Given the description of an element on the screen output the (x, y) to click on. 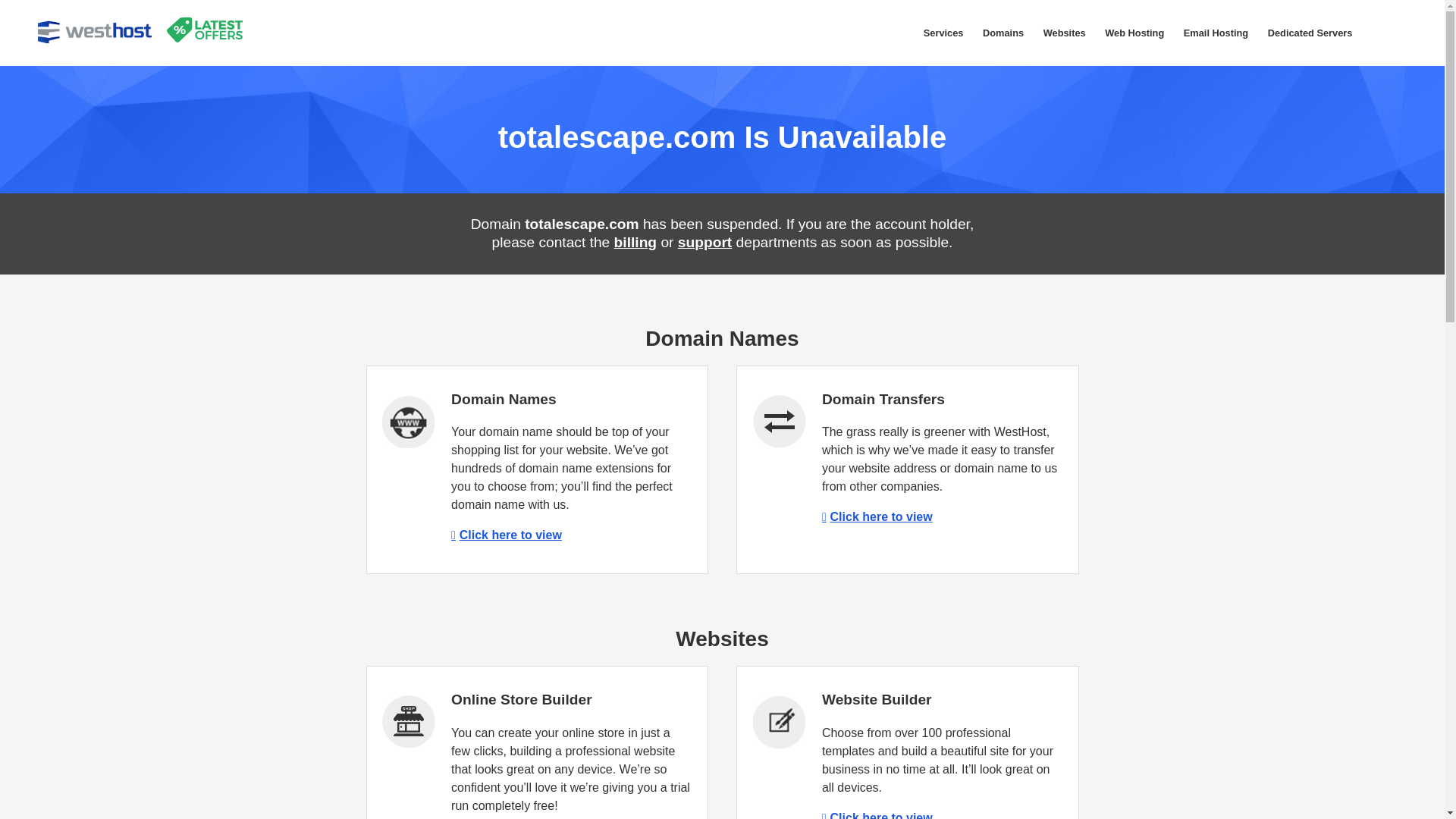
Click here to view (506, 534)
Email Hosting (1215, 32)
Websites (1064, 32)
Click here to view (877, 815)
Click here to view (877, 516)
billing (636, 242)
Services (943, 32)
support (705, 242)
Web Hosting (1133, 32)
Domains (1002, 32)
Dedicated Servers (1309, 32)
